Given the description of an element on the screen output the (x, y) to click on. 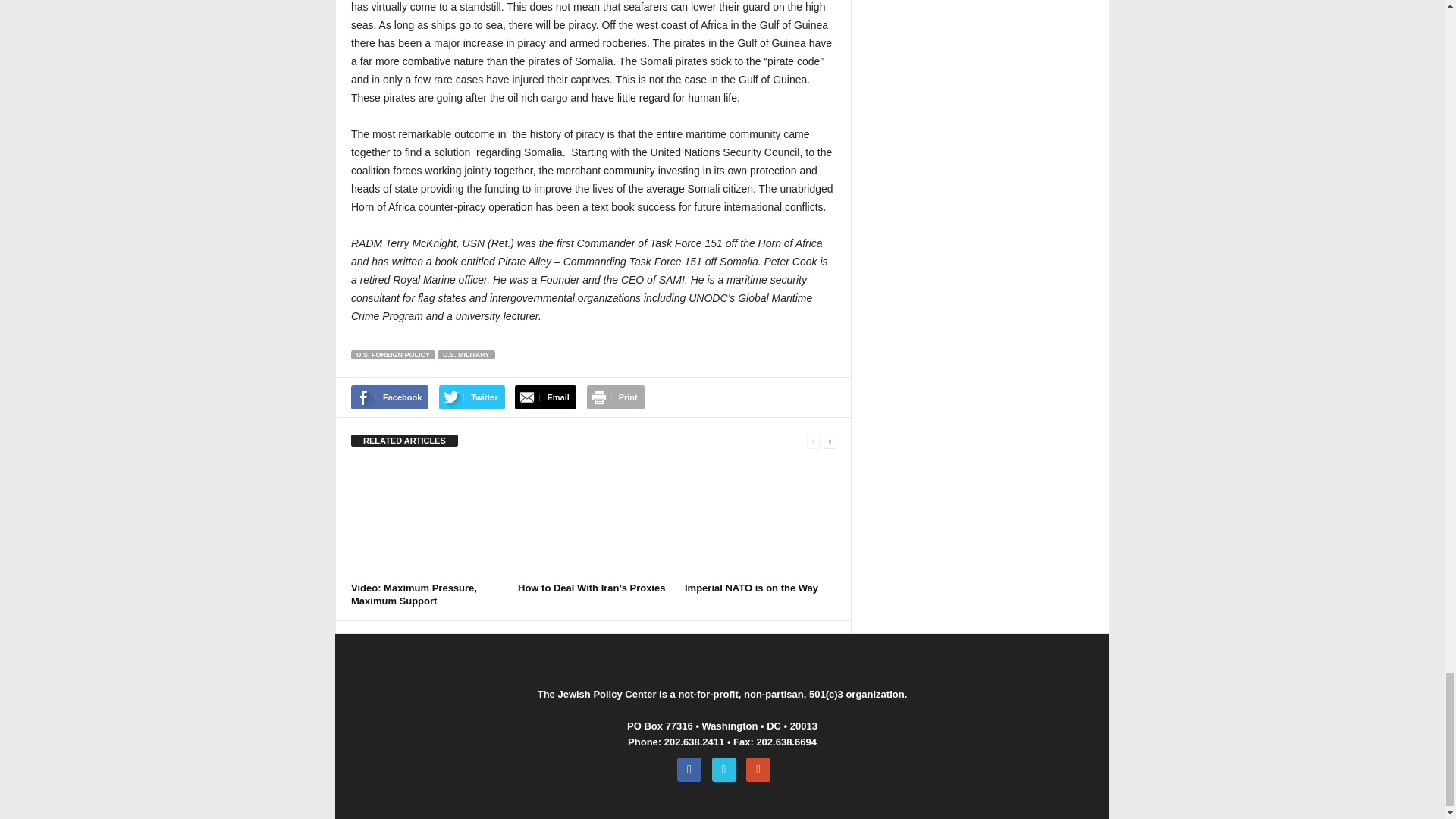
Video: Maximum Pressure, Maximum Support (426, 520)
Video: Maximum Pressure, Maximum Support (413, 594)
